Given the description of an element on the screen output the (x, y) to click on. 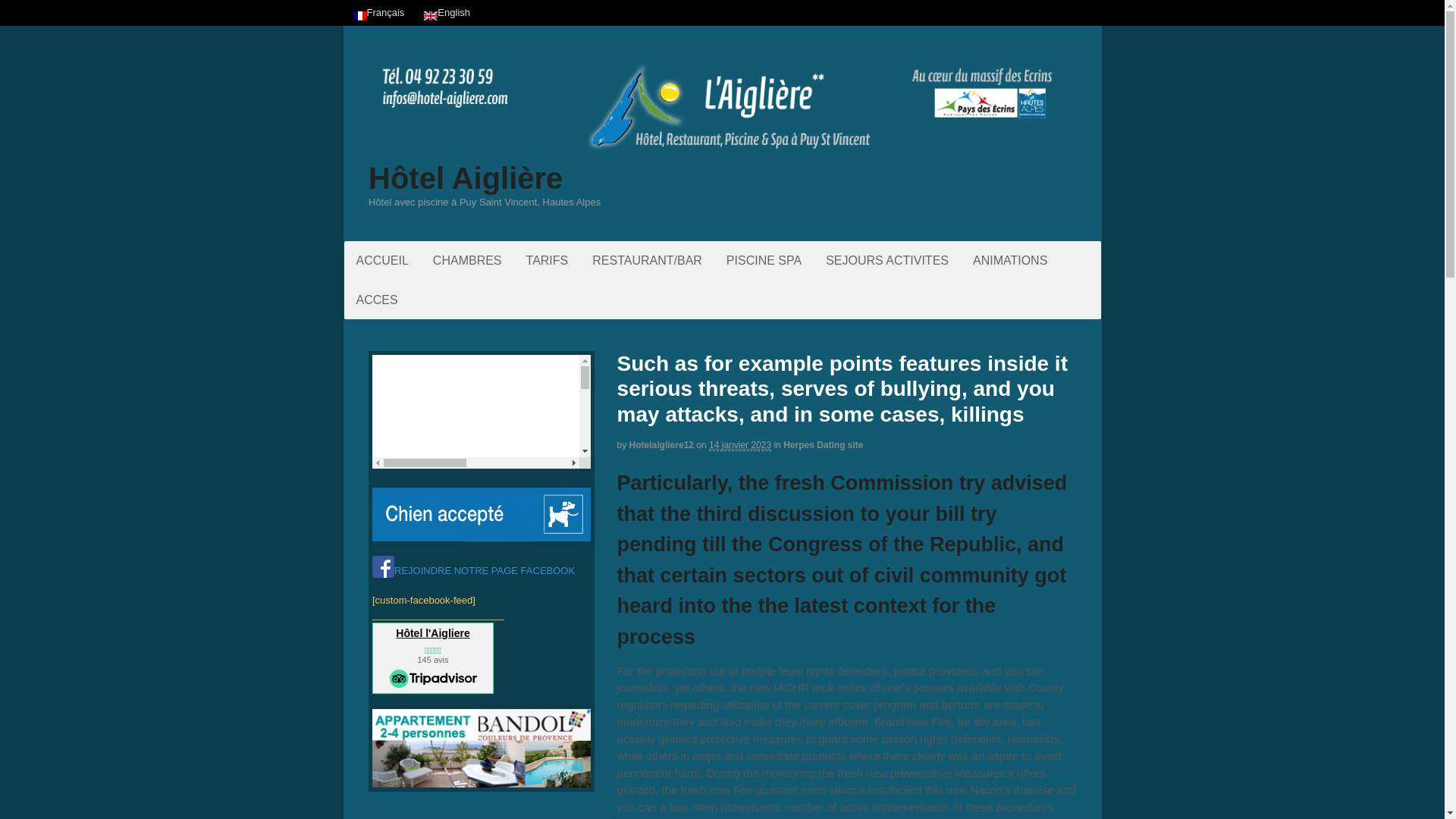
REJOINDRE NOTRE PAGE FACEBOOK (473, 570)
PISCINE SPA (763, 260)
Articles par hotelaigliere12 (661, 444)
Hotelaigliere12 (661, 444)
TARIFS (546, 260)
ACCES (376, 299)
SEJOURS ACTIVITES (886, 260)
English (446, 12)
View all items in Herpes Dating site (823, 444)
Herpes Dating site (823, 444)
English (446, 12)
ANIMATIONS (1009, 260)
ACCUEIL (381, 260)
English (430, 15)
CHAMBRES (466, 260)
